Given the description of an element on the screen output the (x, y) to click on. 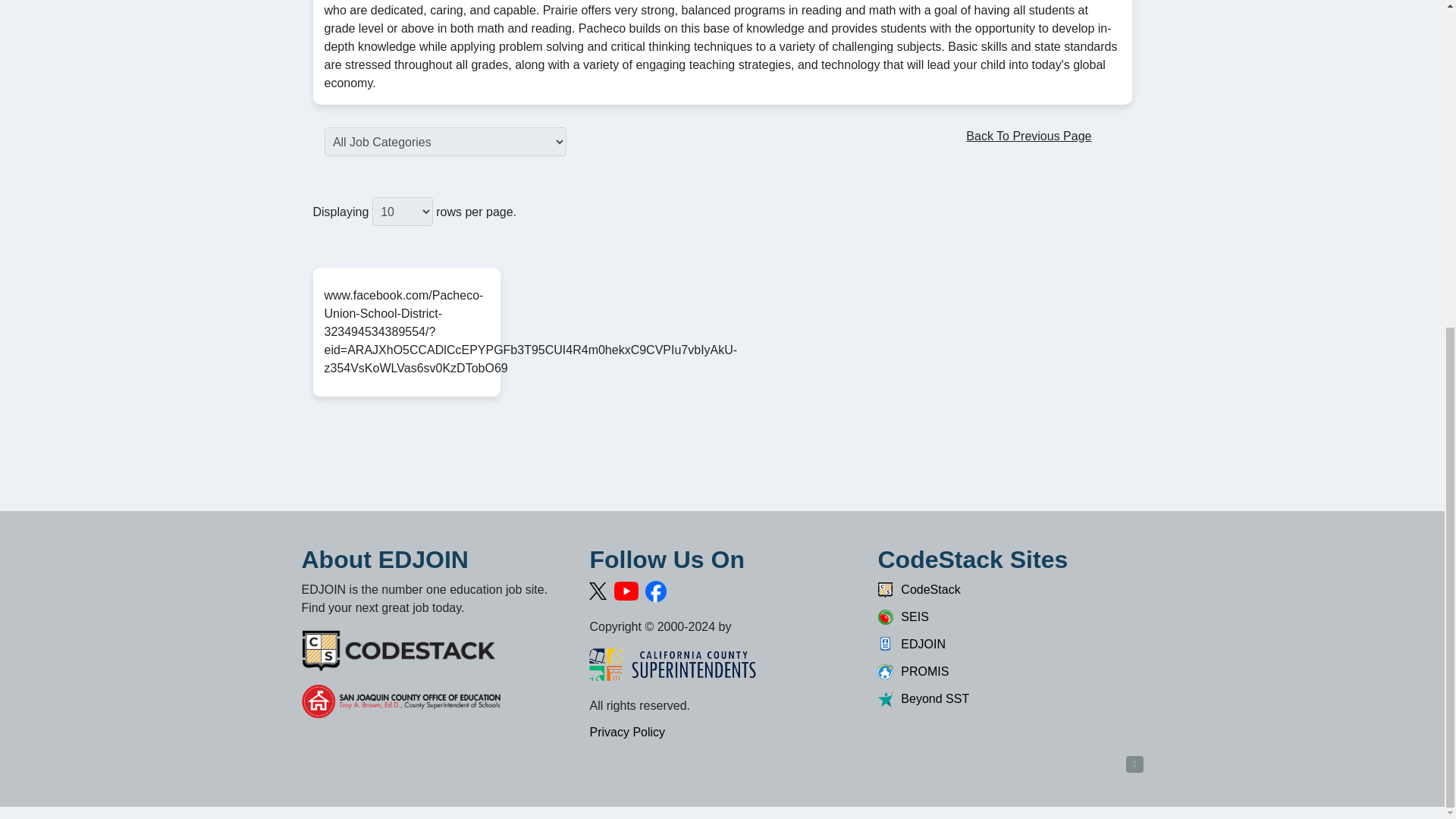
Back To Previous Page (1029, 136)
